Given the description of an element on the screen output the (x, y) to click on. 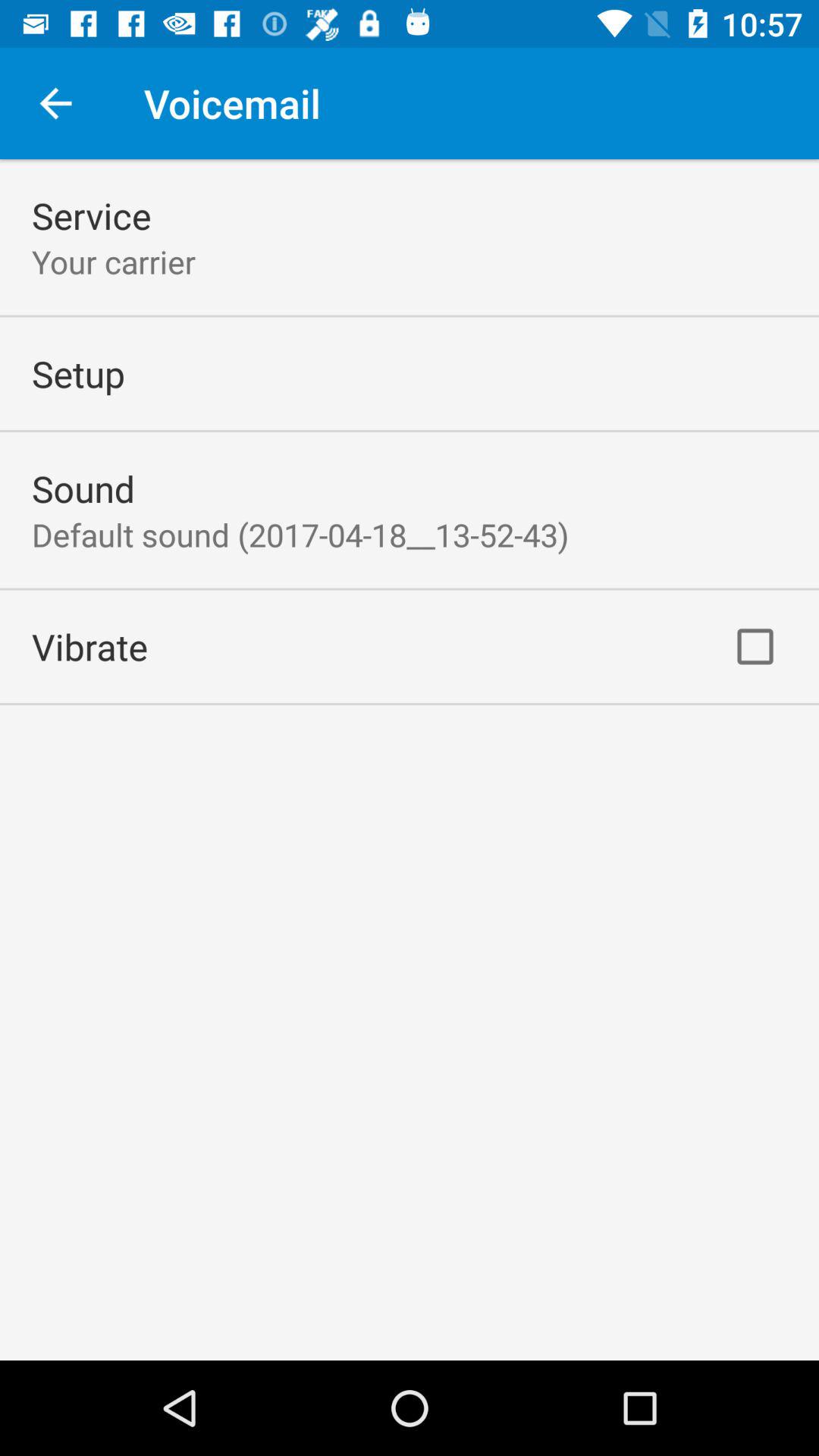
turn off app below the service (113, 261)
